Given the description of an element on the screen output the (x, y) to click on. 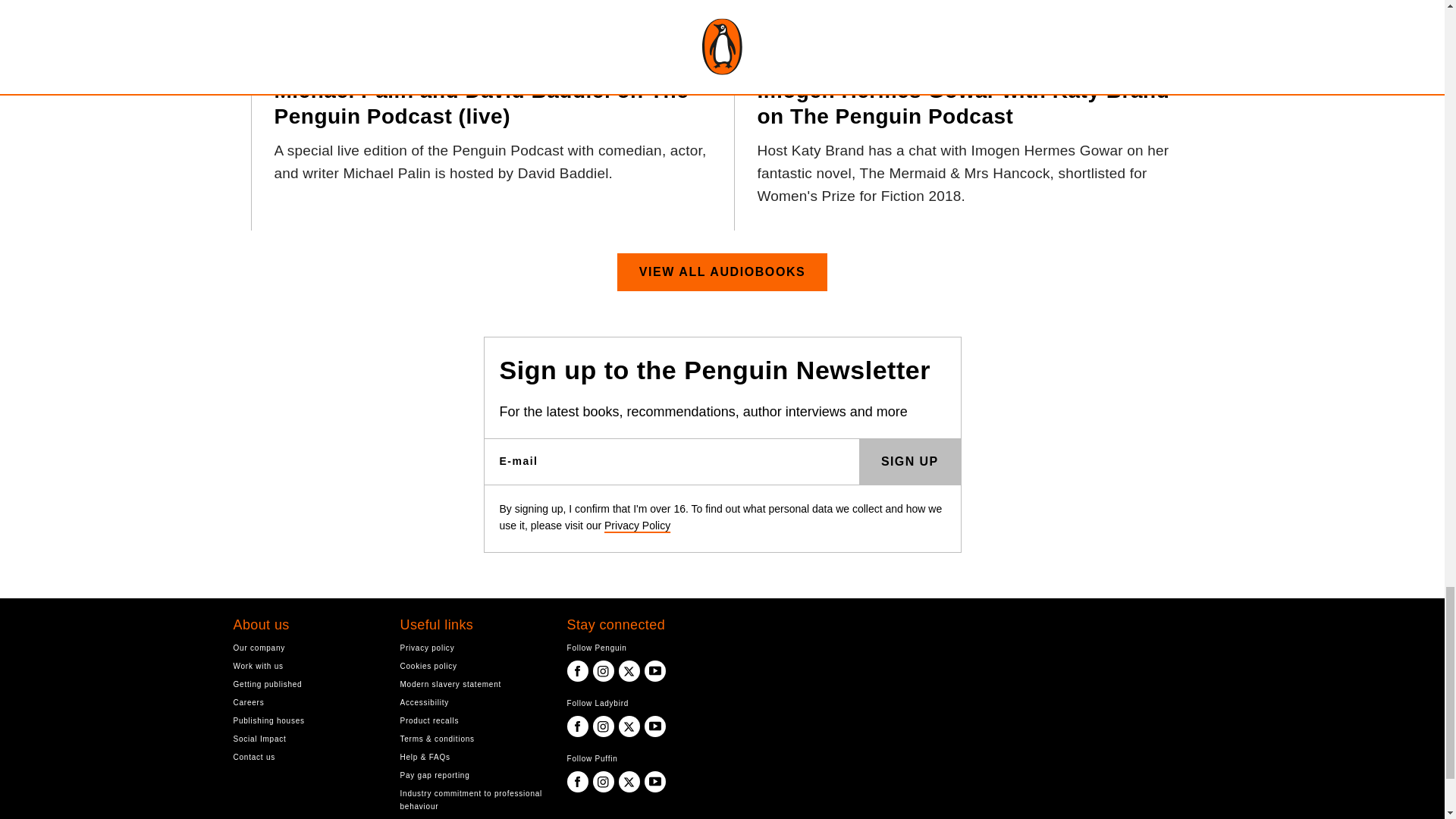
Privacy policy (472, 647)
Social Impact (304, 738)
SIGN UP (909, 461)
Careers (304, 702)
VIEW ALL AUDIOBOOKS (722, 272)
Our company (304, 647)
Contact us (304, 757)
Getting published (304, 684)
Publishing houses (304, 720)
Product recalls (472, 720)
Work with us (304, 666)
Accessibility (472, 702)
Pay gap reporting (472, 775)
Privacy Policy (636, 525)
Modern slavery statement (472, 684)
